Given the description of an element on the screen output the (x, y) to click on. 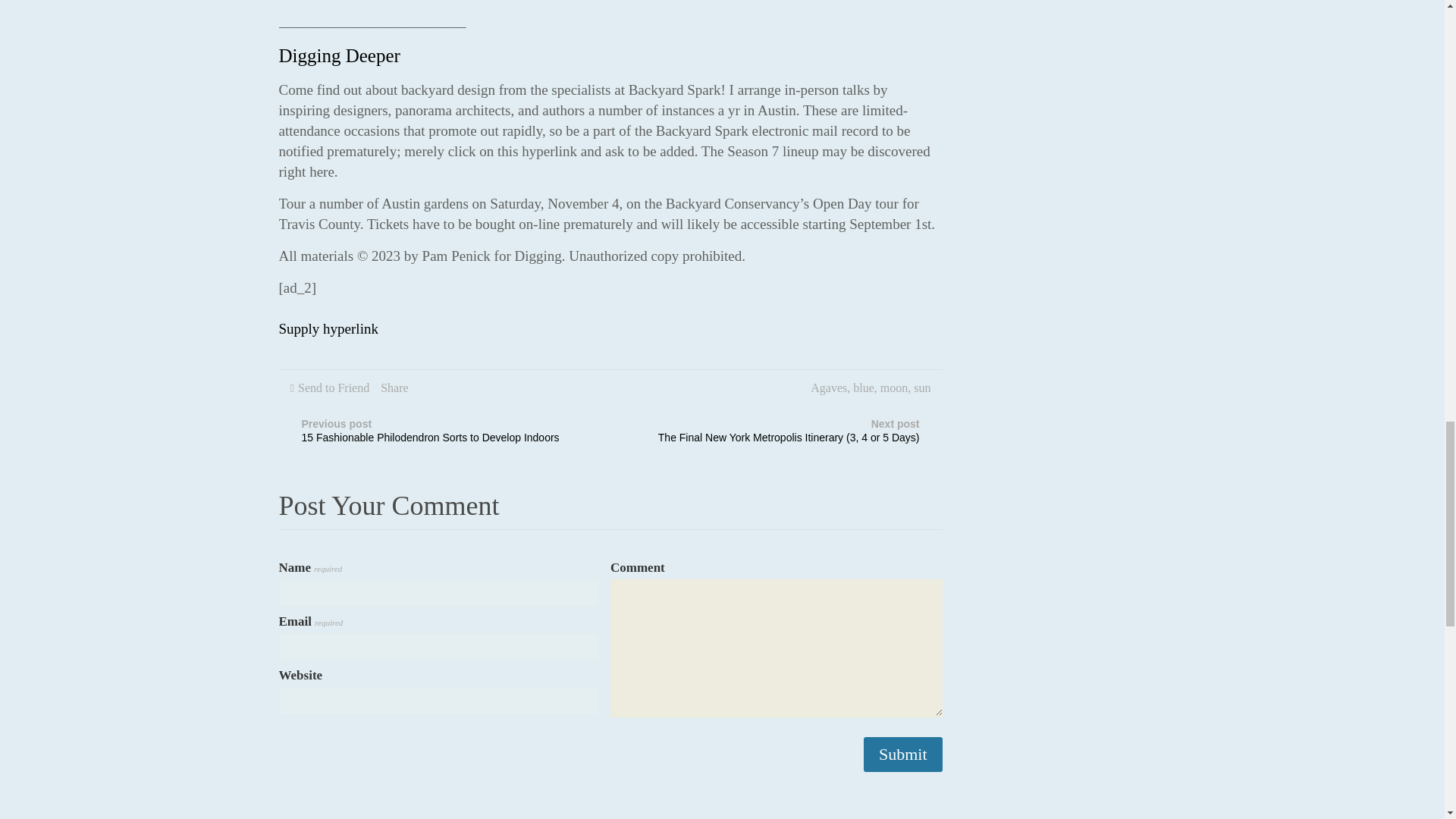
moon (893, 387)
Submit (902, 754)
Submit (902, 754)
Supply hyperlink (328, 328)
blue (864, 387)
Send to Friend (333, 387)
Agaves (828, 387)
Share (393, 387)
sun (922, 387)
